Given the description of an element on the screen output the (x, y) to click on. 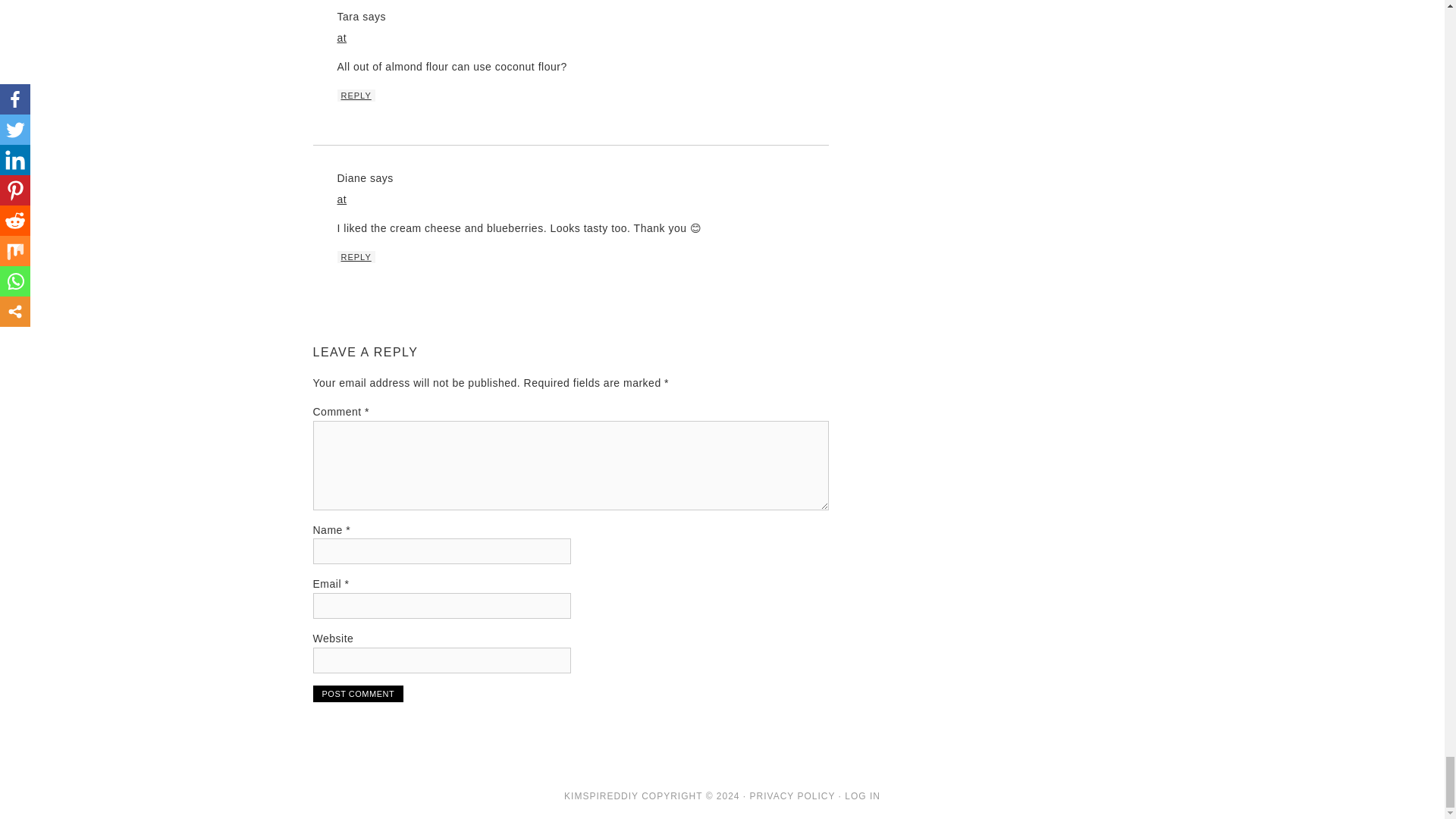
Post Comment (358, 693)
